Given the description of an element on the screen output the (x, y) to click on. 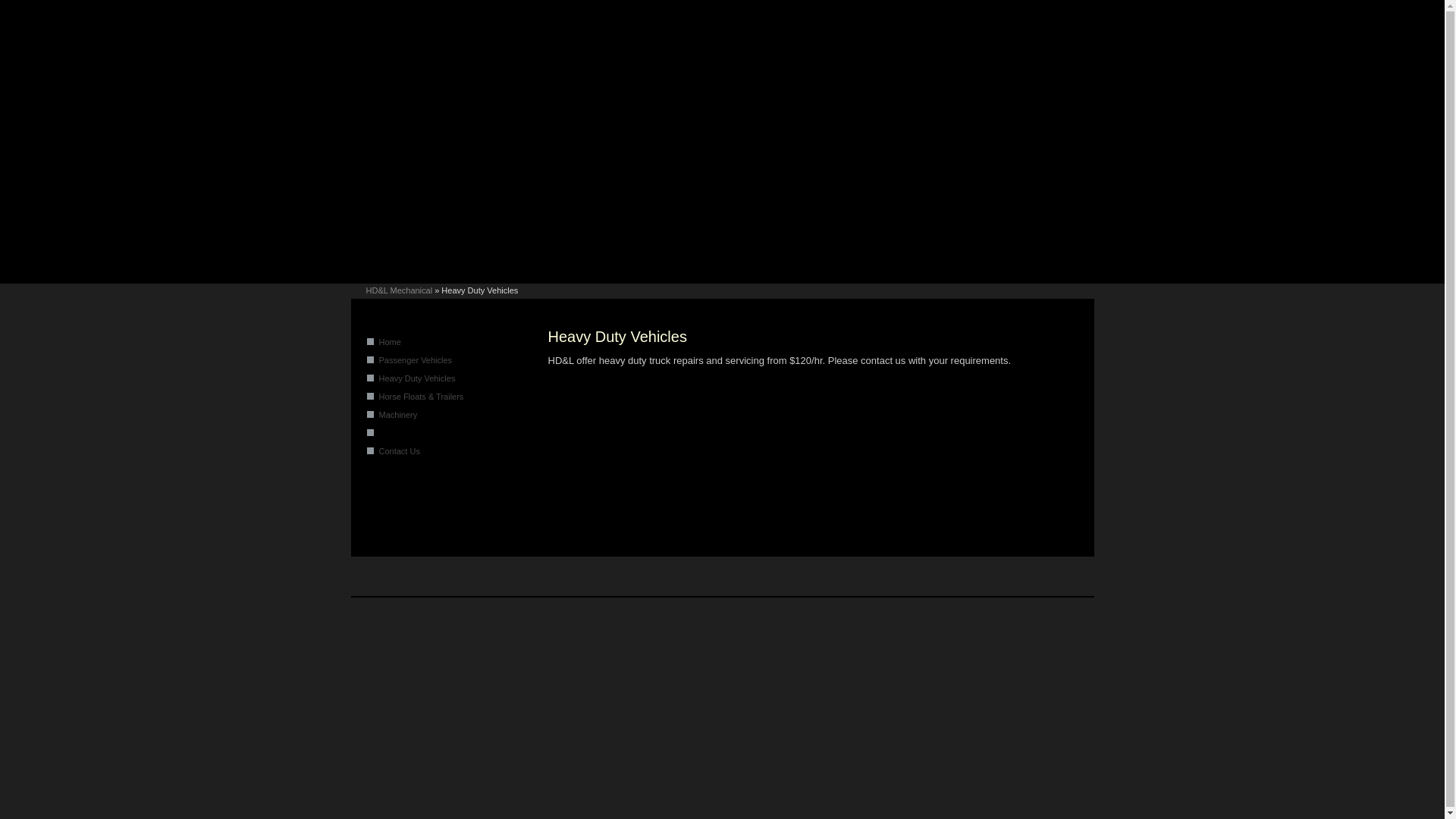
Home Element type: text (390, 341)
HD&L Mechanical Element type: text (398, 289)
Passenger Vehicles Element type: text (415, 359)
Contact Us Element type: text (399, 450)
Email HDL Mechanical - Perth - Now Element type: hover (499, 264)
Horse Floats & Trailers Element type: text (421, 396)
Heavy Duty Vehicles Element type: text (417, 377)
Call YHDL Mechanical - Perth - Now Element type: hover (403, 264)
Machinery Element type: text (398, 414)
